Given the description of an element on the screen output the (x, y) to click on. 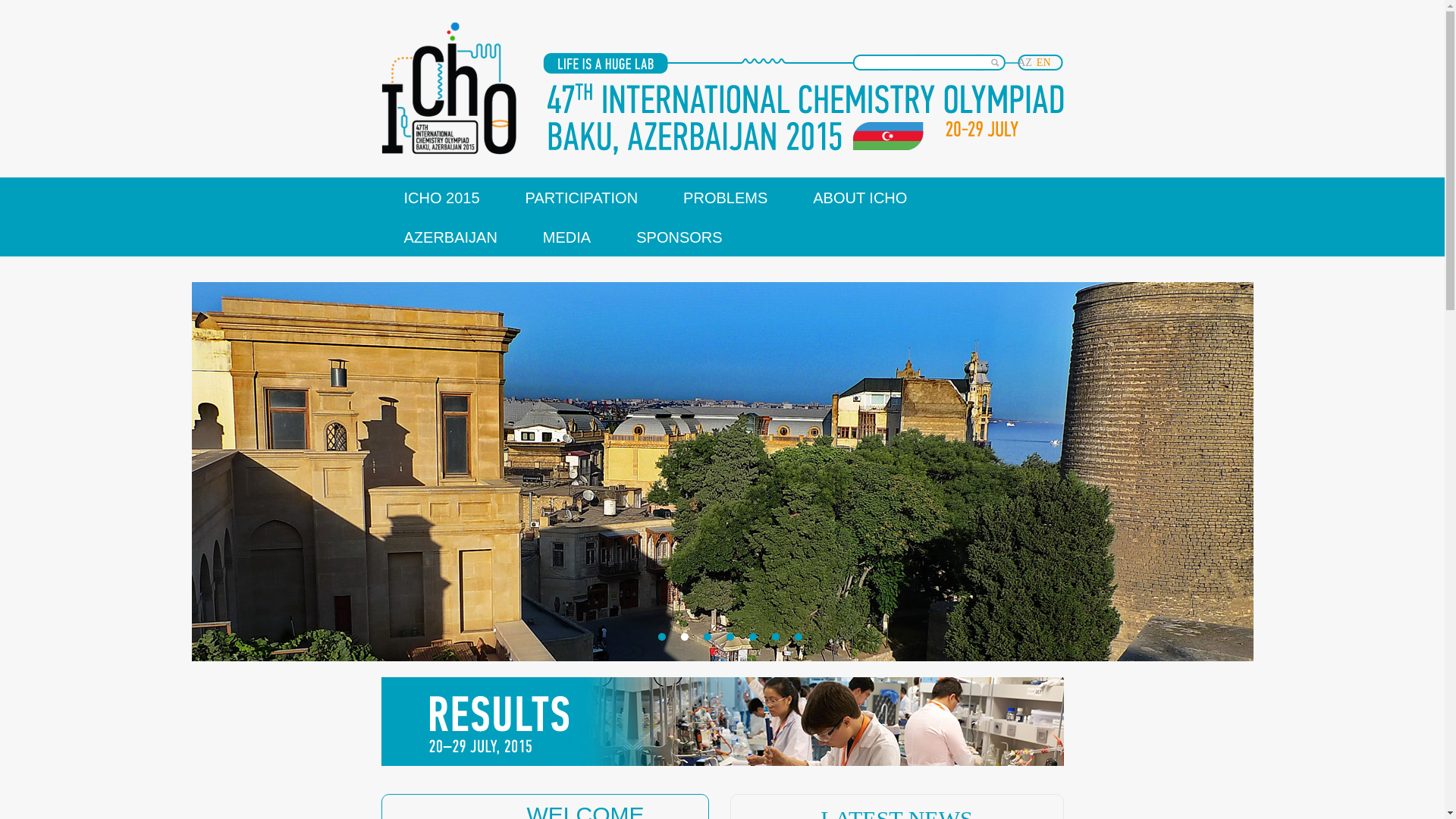
EN Element type: text (1045, 62)
ABOUT ICHO Element type: text (859, 196)
PARTICIPATION Element type: text (581, 196)
AZ Element type: text (1026, 62)
PROBLEMS Element type: text (725, 196)
MEDIA Element type: text (566, 236)
AZERBAIJAN Element type: text (449, 236)
ICHO 2015 Element type: text (441, 196)
SPONSORS Element type: text (678, 236)
